Given the description of an element on the screen output the (x, y) to click on. 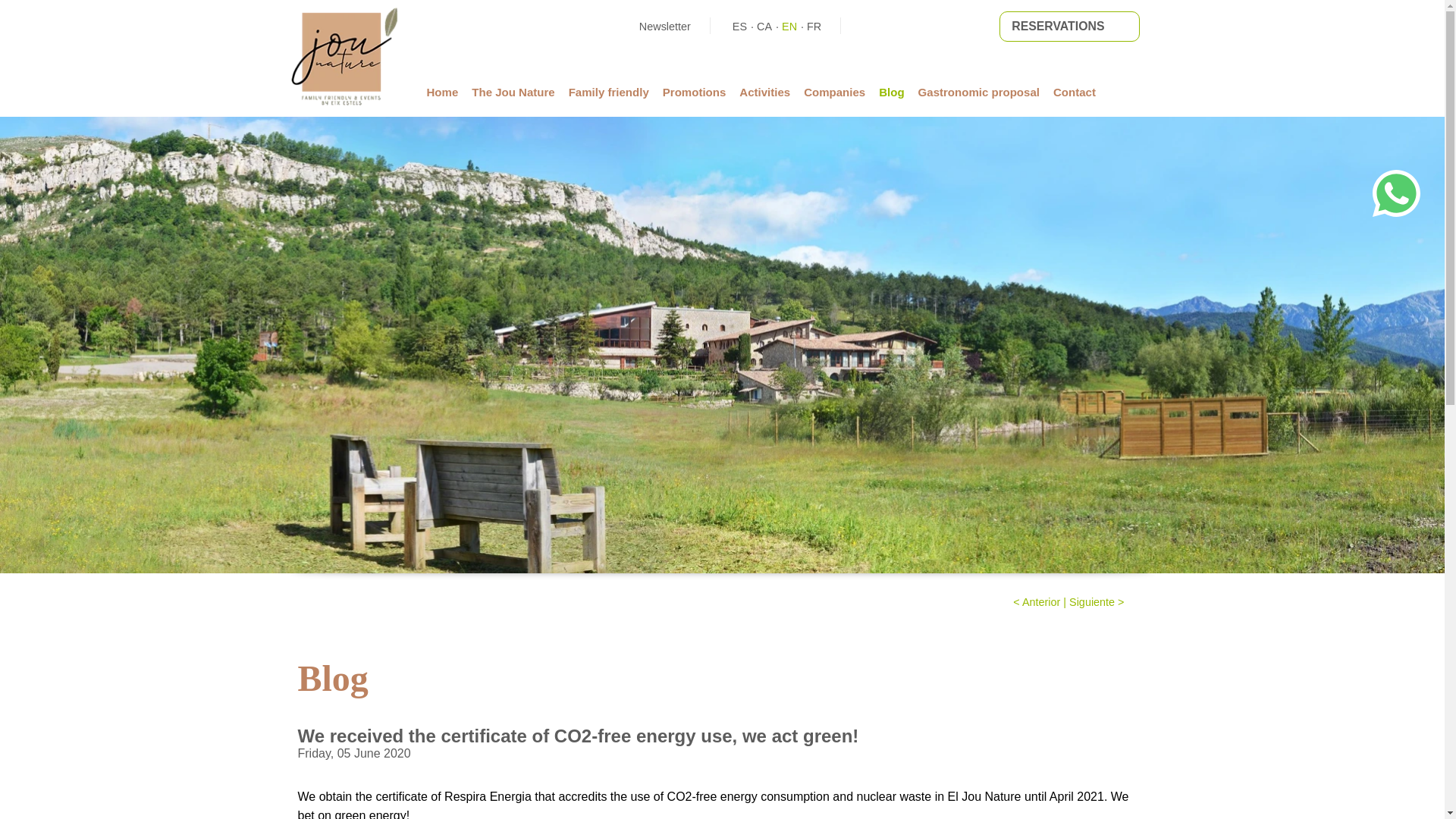
2 (103, 336)
EN (788, 26)
FR (813, 26)
CA (764, 26)
Gastronomic proposal (985, 91)
ES (739, 26)
El Jou Nature (343, 101)
Search (170, 389)
Newsletter (655, 26)
0 (212, 336)
